Given the description of an element on the screen output the (x, y) to click on. 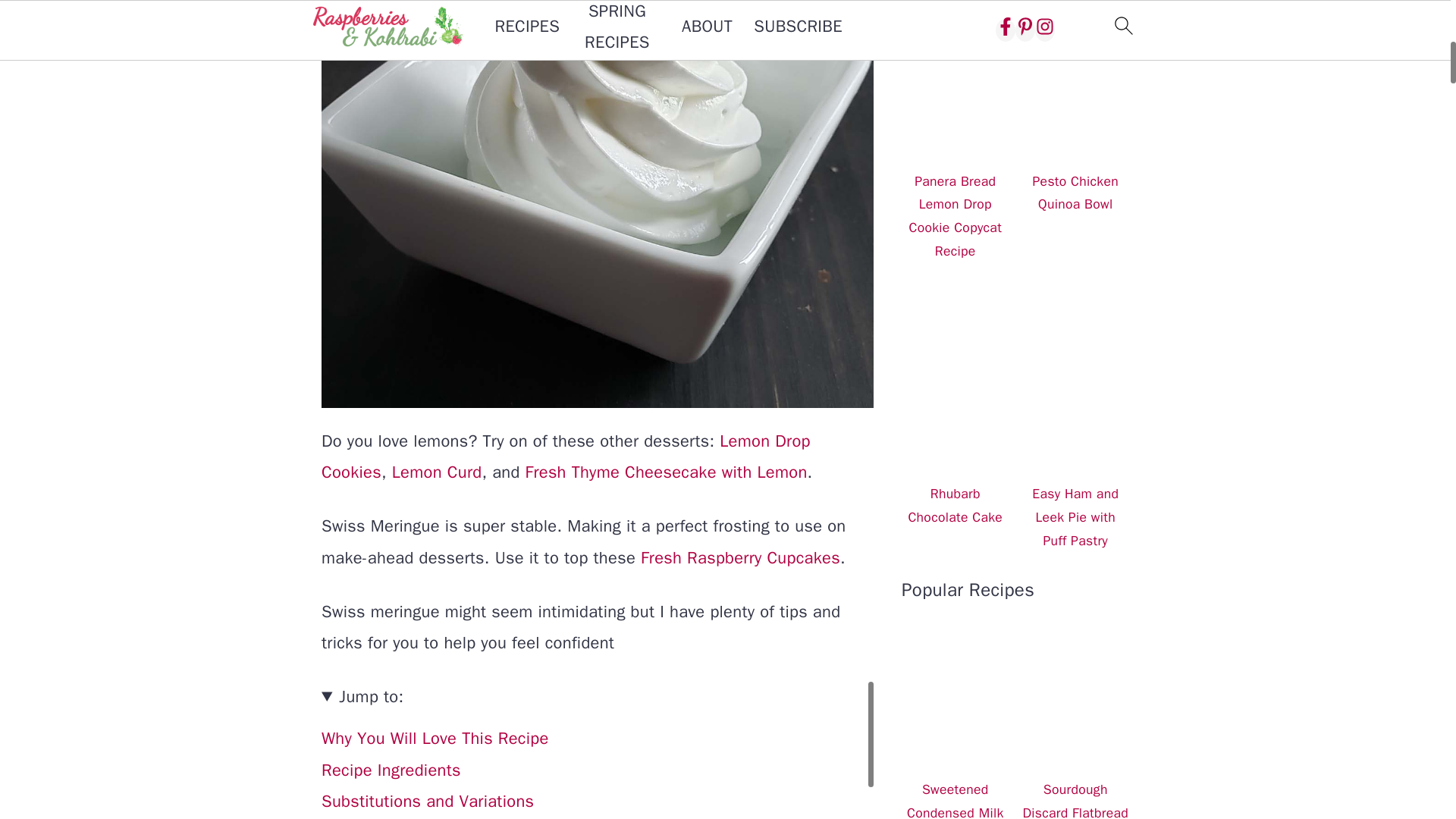
Substitutions and Variations (427, 801)
Recipe Ingredients (391, 770)
Fresh Raspberry Cupcakes (740, 557)
Lemon Curd (436, 472)
Fresh Thyme Cheesecake with Lemon (666, 472)
Lemon Drop Cookies (565, 456)
Why You Will Love This Recipe (434, 738)
